Given the description of an element on the screen output the (x, y) to click on. 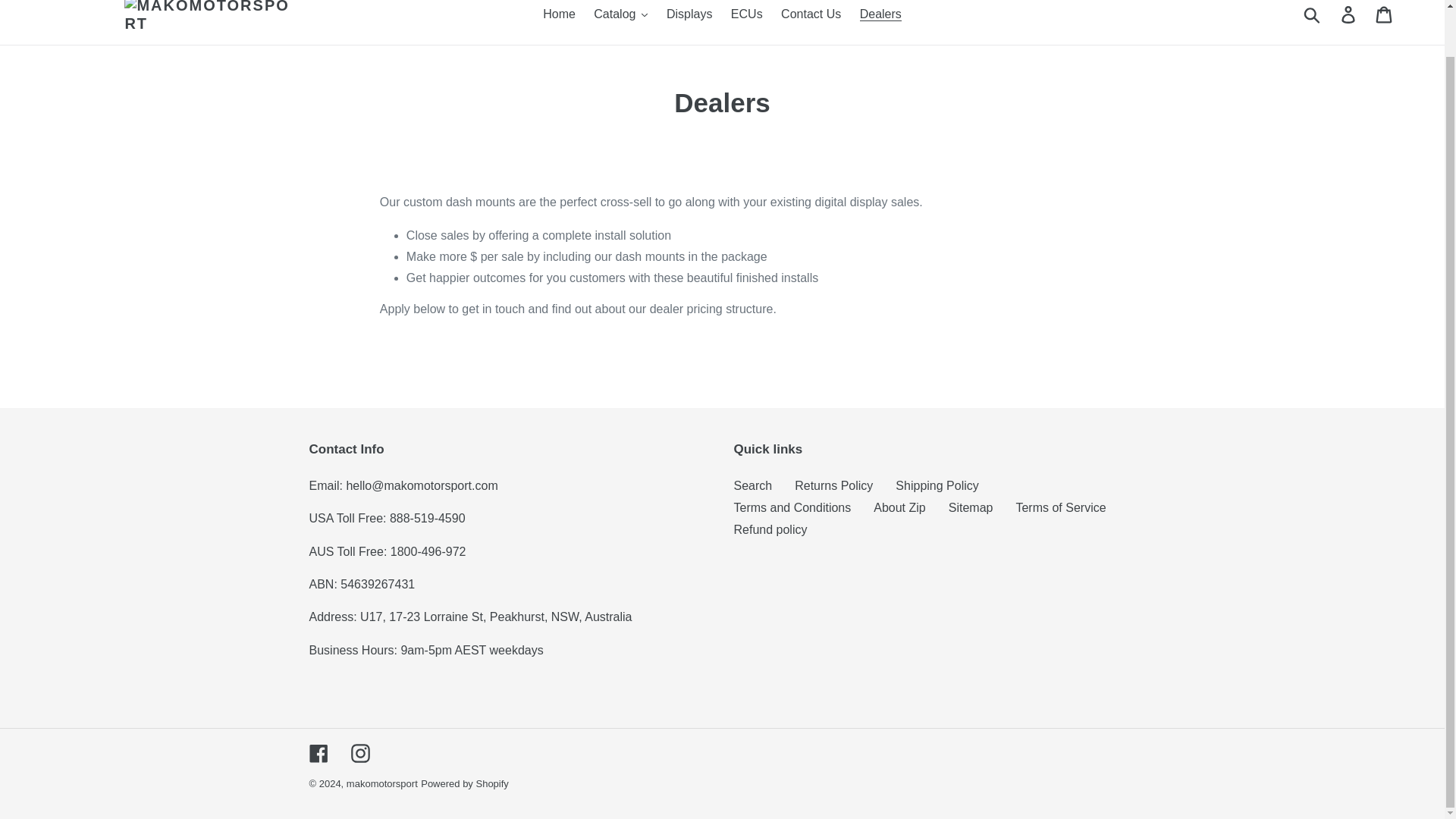
Cart (1385, 15)
Dealers (879, 14)
Home (559, 14)
Contact Us (810, 14)
ECUs (746, 14)
Displays (689, 14)
Log in (1349, 15)
Submit (1313, 15)
